Given the description of an element on the screen output the (x, y) to click on. 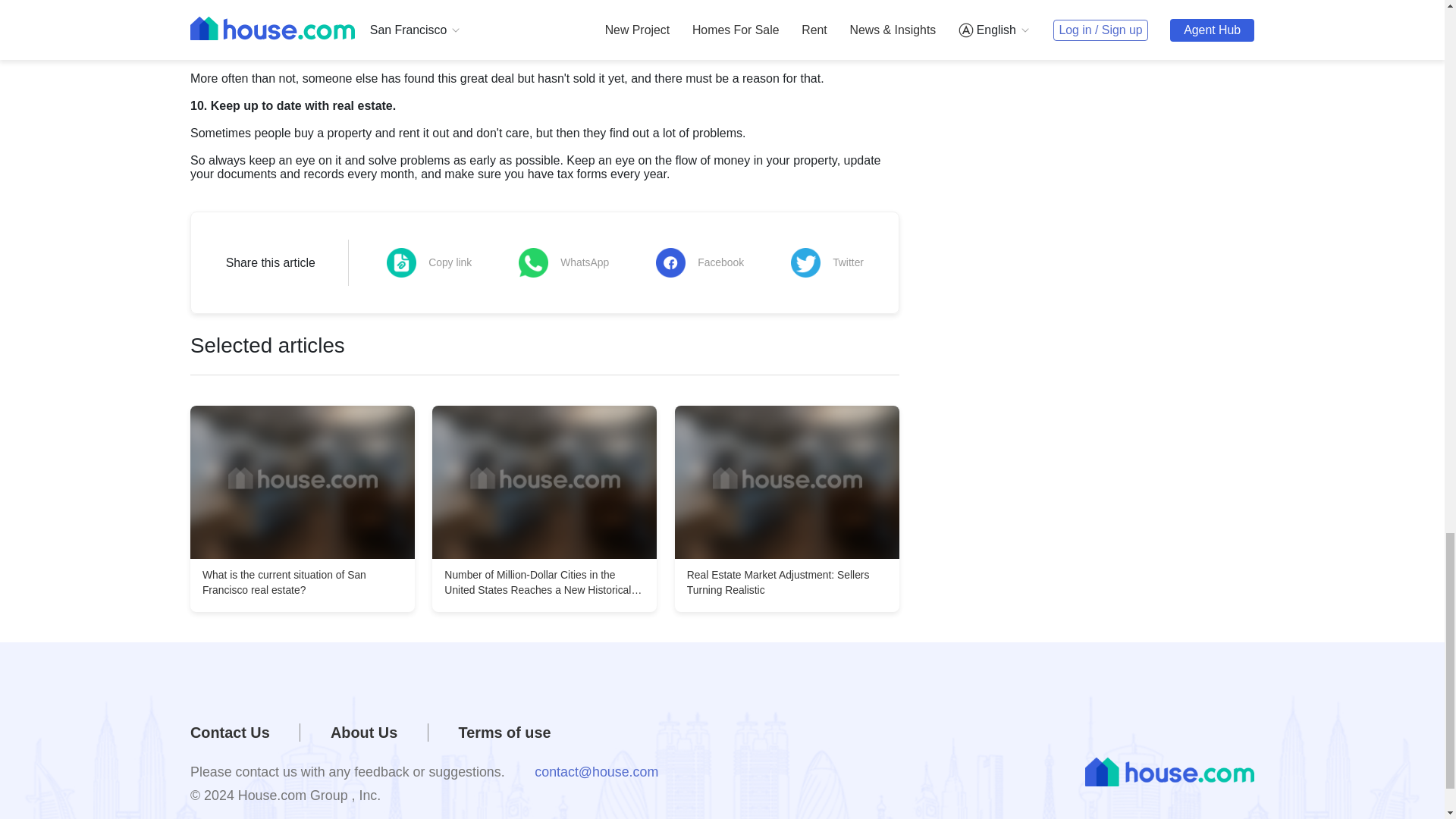
What is the current situation of San Francisco real estate? (302, 481)
Real Estate Market Adjustment: Sellers Turning Realistic (787, 481)
